Given the description of an element on the screen output the (x, y) to click on. 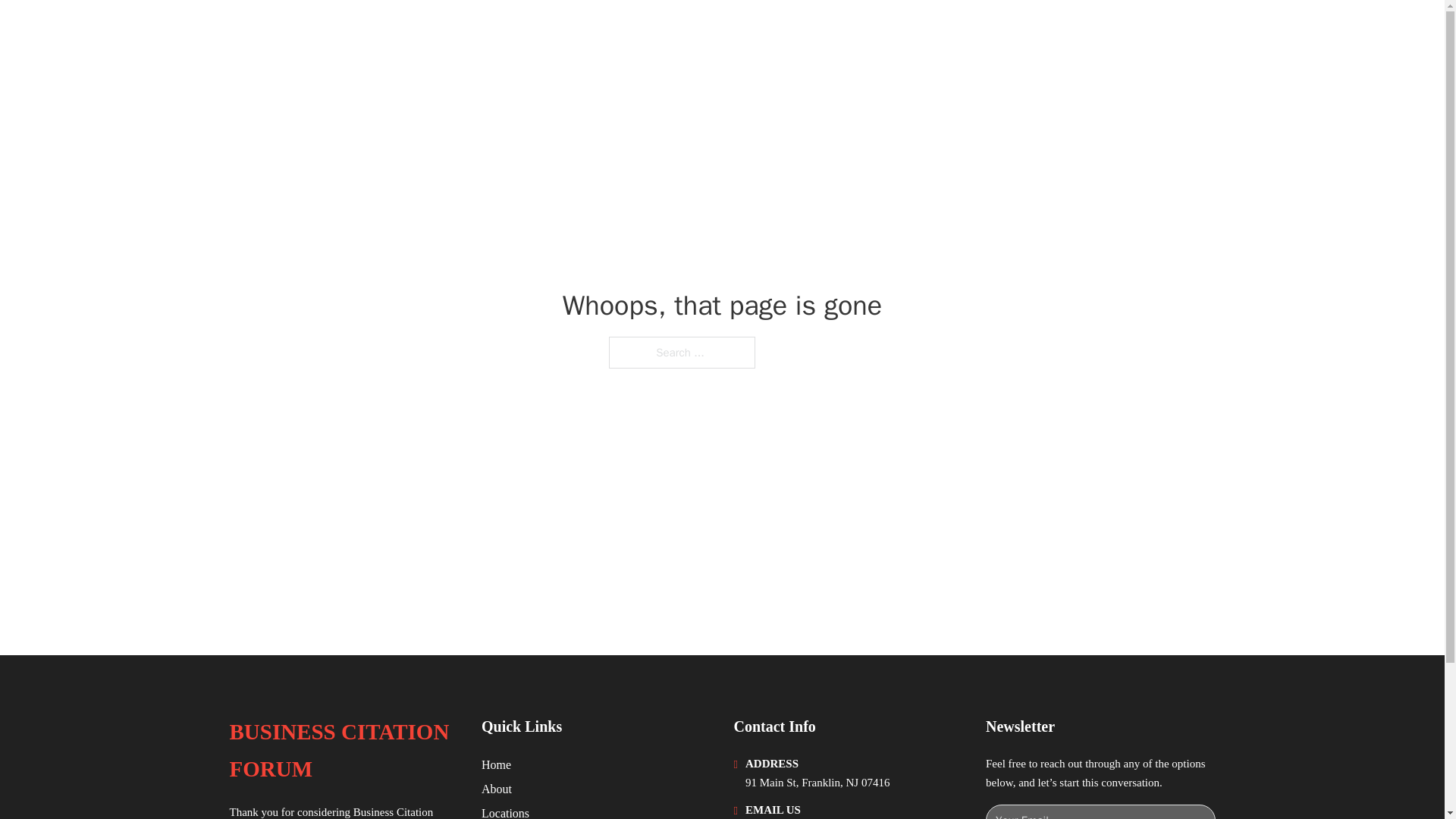
BUSINESS CITATION FORUM (343, 750)
Home (496, 764)
LOCATIONS (1098, 31)
Locations (505, 811)
About (496, 788)
HOME (1025, 31)
BUSINESS CITATION FORUM (398, 31)
